Given the description of an element on the screen output the (x, y) to click on. 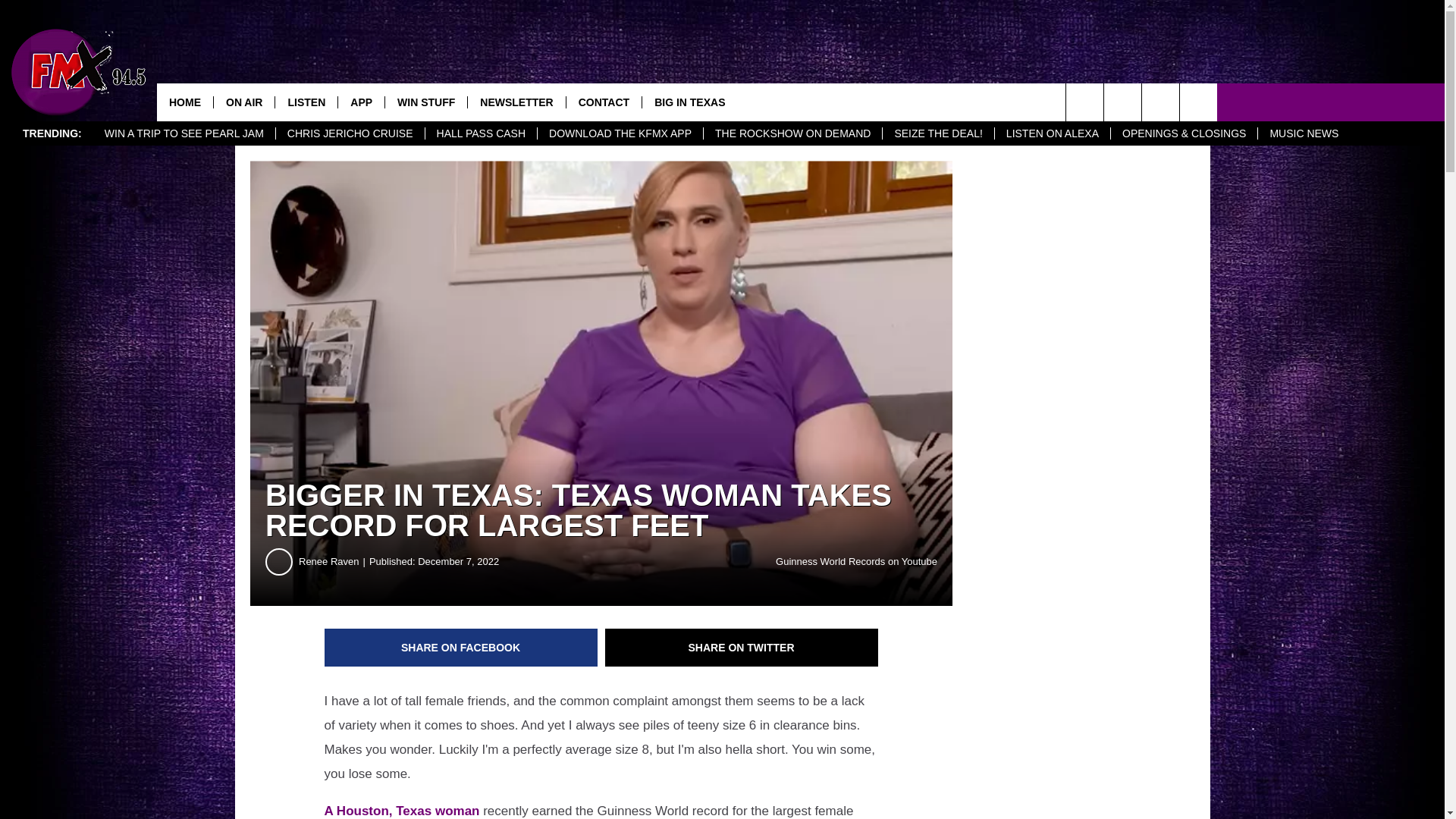
Share on Facebook (460, 647)
WIN STUFF (425, 102)
MUSIC NEWS (1303, 133)
HALL PASS CASH (481, 133)
SEIZE THE DEAL! (937, 133)
WIN A TRIP TO SEE PEARL JAM (184, 133)
CHRIS JERICHO CRUISE (350, 133)
APP (360, 102)
HOME (184, 102)
TRENDING: (52, 133)
